Given the description of an element on the screen output the (x, y) to click on. 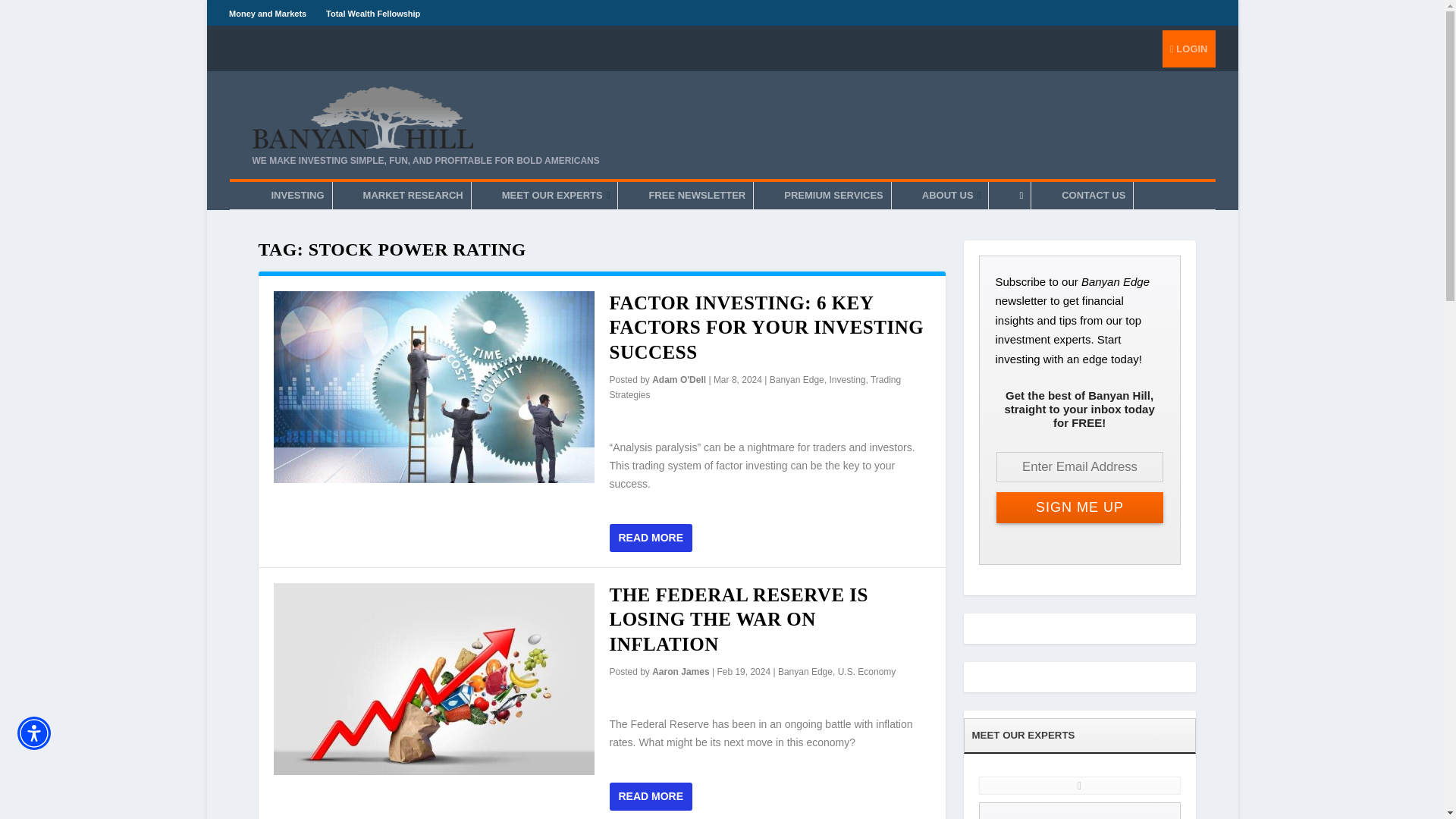
Factor Investing: 6 Key Factors For Your Investing Success (433, 387)
Money and Markets (266, 13)
INVESTING (297, 195)
Market Research (412, 195)
Posts by Adam O'Dell (679, 379)
MEET OUR EXPERTS (556, 195)
Total Wealth Fellowship (373, 13)
ABOUT US (951, 195)
FREE NEWSLETTER (696, 195)
PREMIUM SERVICES (833, 195)
FACTOR INVESTING: 6 KEY FACTORS FOR YOUR INVESTING SUCCESS (767, 327)
MARKET RESEARCH (412, 195)
Accessibility Menu (33, 733)
